Given the description of an element on the screen output the (x, y) to click on. 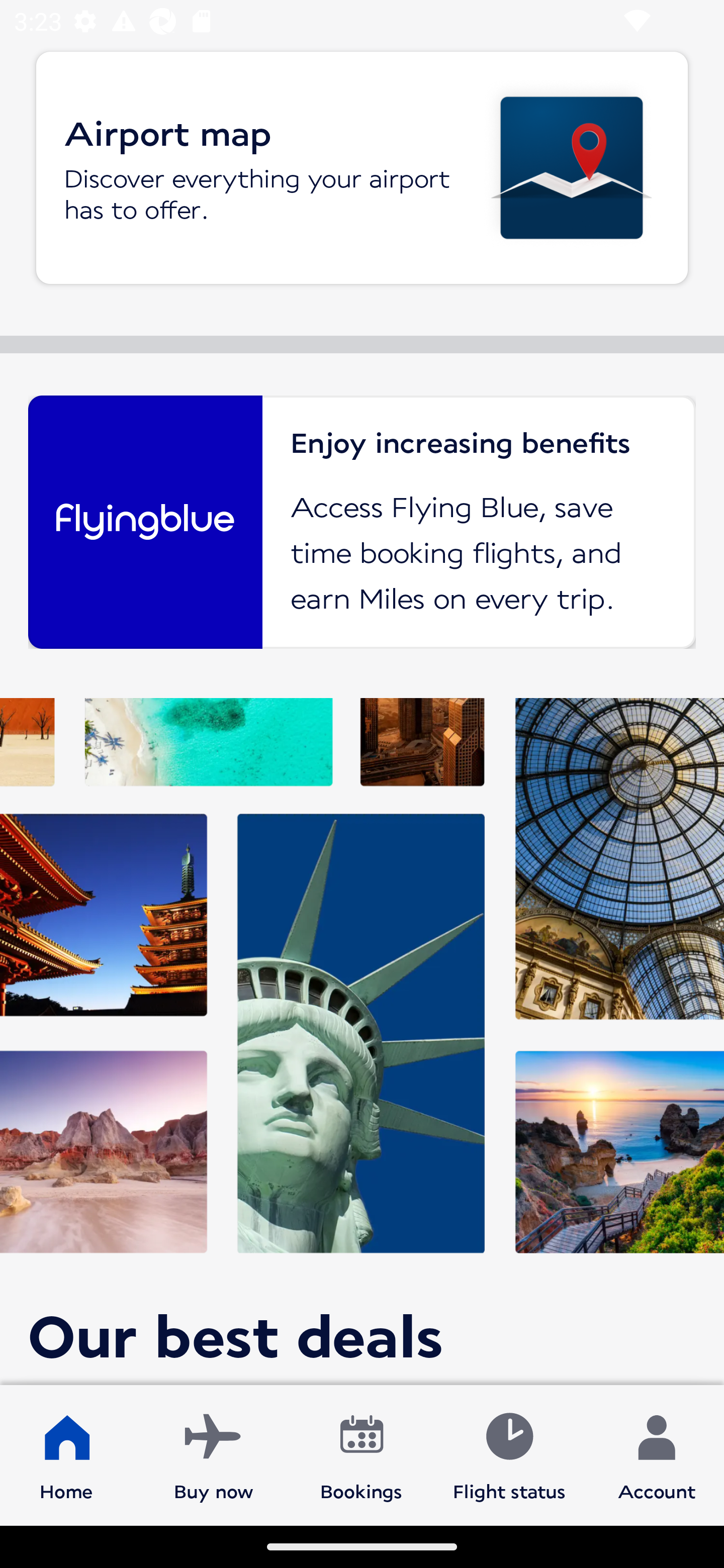
Our best deals (362, 1040)
Buy now (213, 1454)
Bookings (361, 1454)
Flight status (509, 1454)
Account (657, 1454)
